Given the description of an element on the screen output the (x, y) to click on. 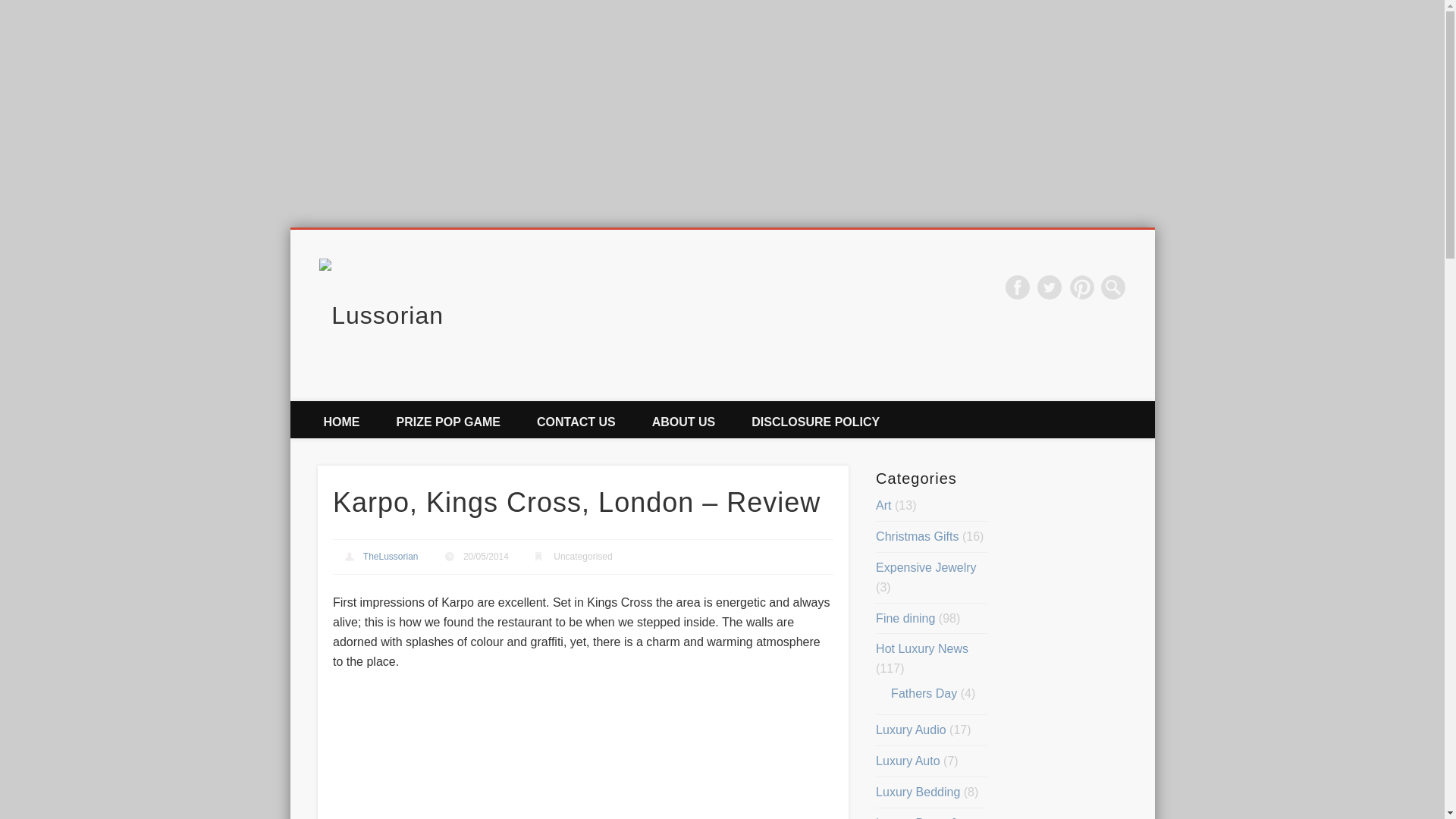
Expensive Jewelry (926, 567)
Pinterest (1082, 287)
Hot Luxury News (922, 648)
Fine dining (905, 617)
DISCLOSURE POLICY (815, 419)
Posts by TheLussorian (390, 556)
CONTACT US (575, 419)
Advertisement (582, 754)
Art (883, 504)
Fathers Day (923, 693)
TheLussorian (390, 556)
PRIZE POP GAME (447, 419)
Christmas Gifts (917, 535)
HOME (340, 419)
